Given the description of an element on the screen output the (x, y) to click on. 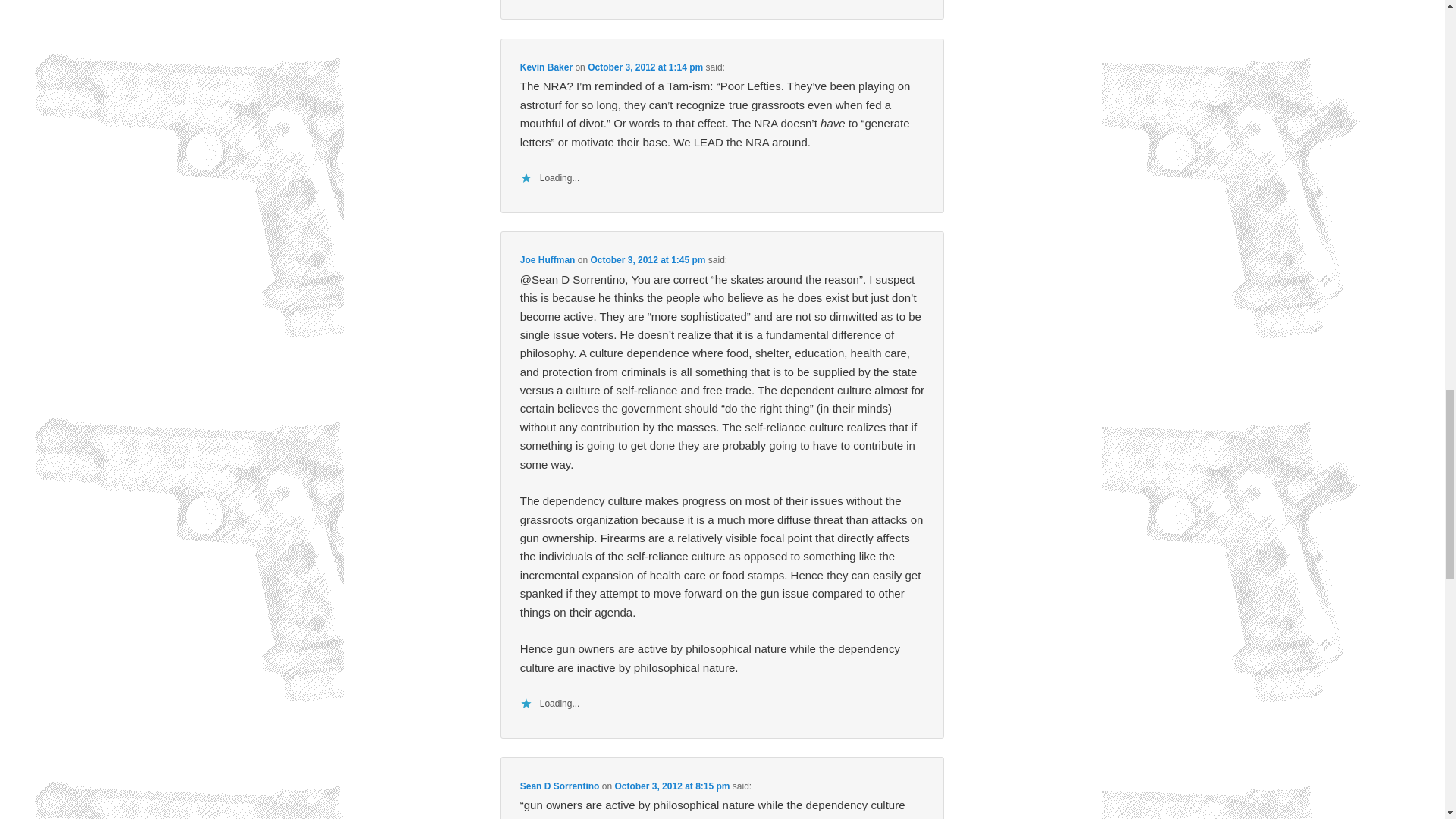
Kevin Baker (545, 67)
October 3, 2012 at 1:14 pm (645, 67)
Joe Huffman (547, 259)
October 3, 2012 at 1:45 pm (646, 259)
